Given the description of an element on the screen output the (x, y) to click on. 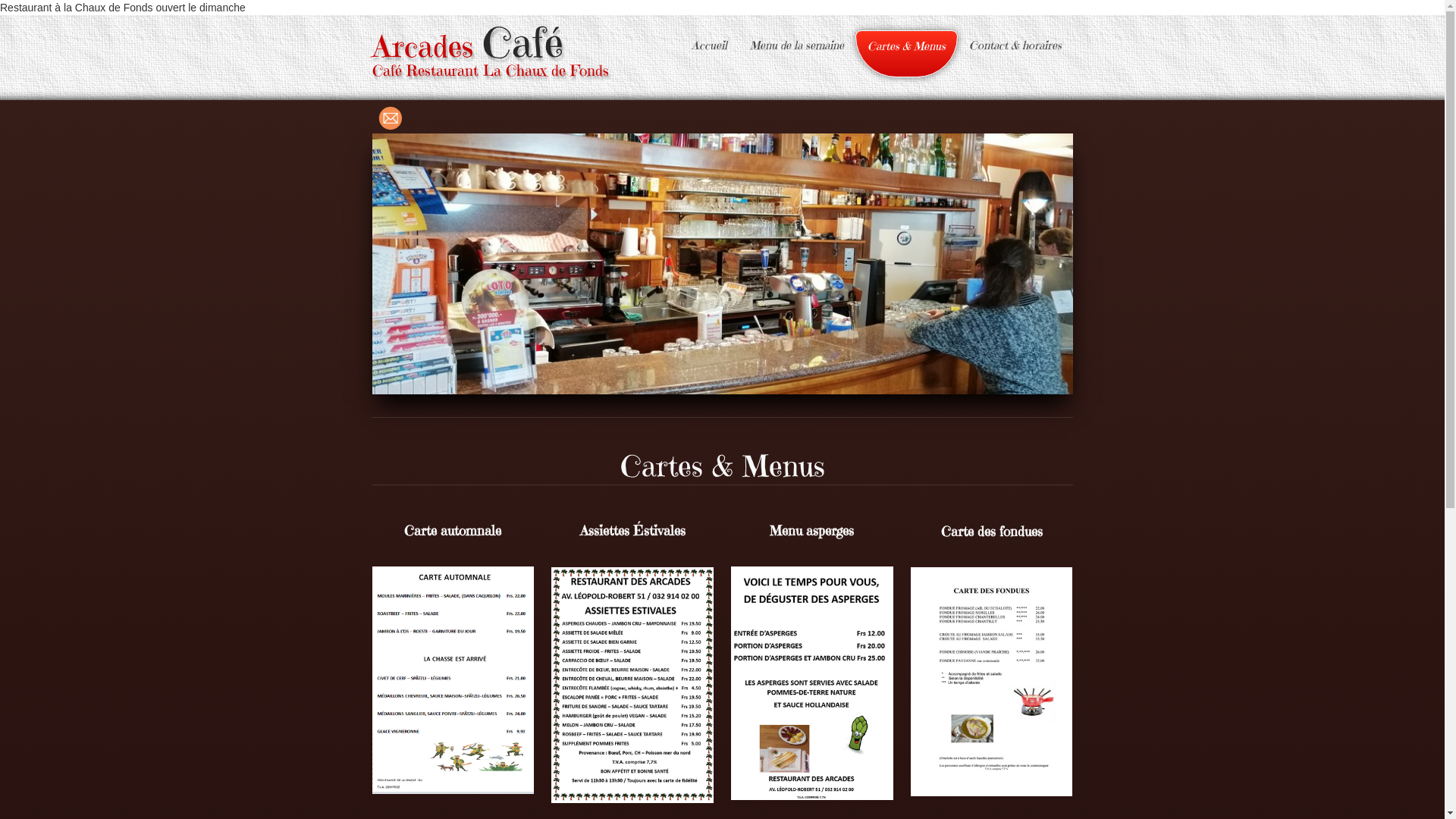
Menu de la semaine Element type: text (796, 45)
Contact & horaires Element type: text (1014, 45)
Accueil Element type: text (708, 45)
Cartes & Menus Element type: text (906, 53)
